Given the description of an element on the screen output the (x, y) to click on. 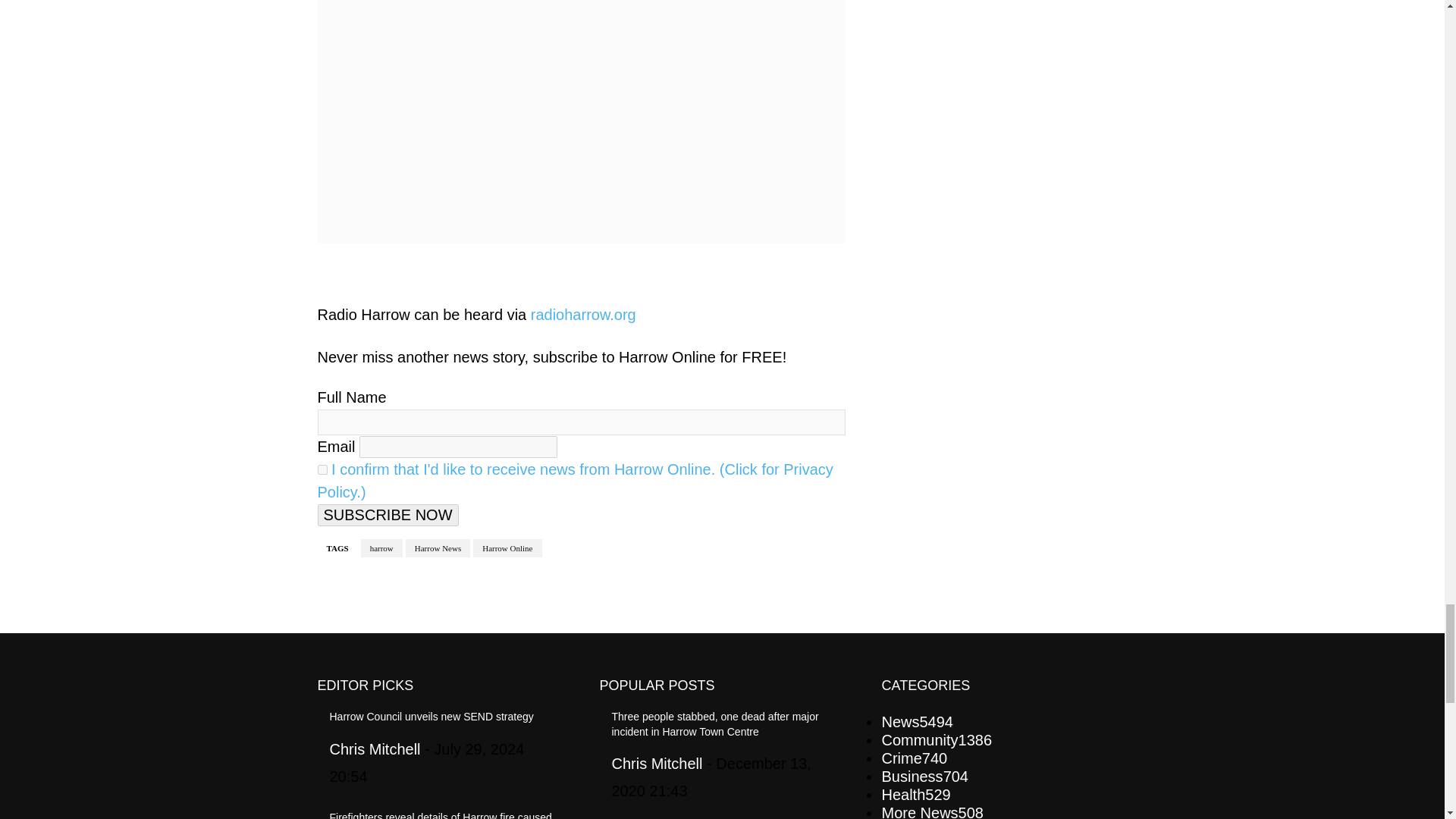
SUBSCRIBE NOW (387, 515)
on (321, 470)
